Given the description of an element on the screen output the (x, y) to click on. 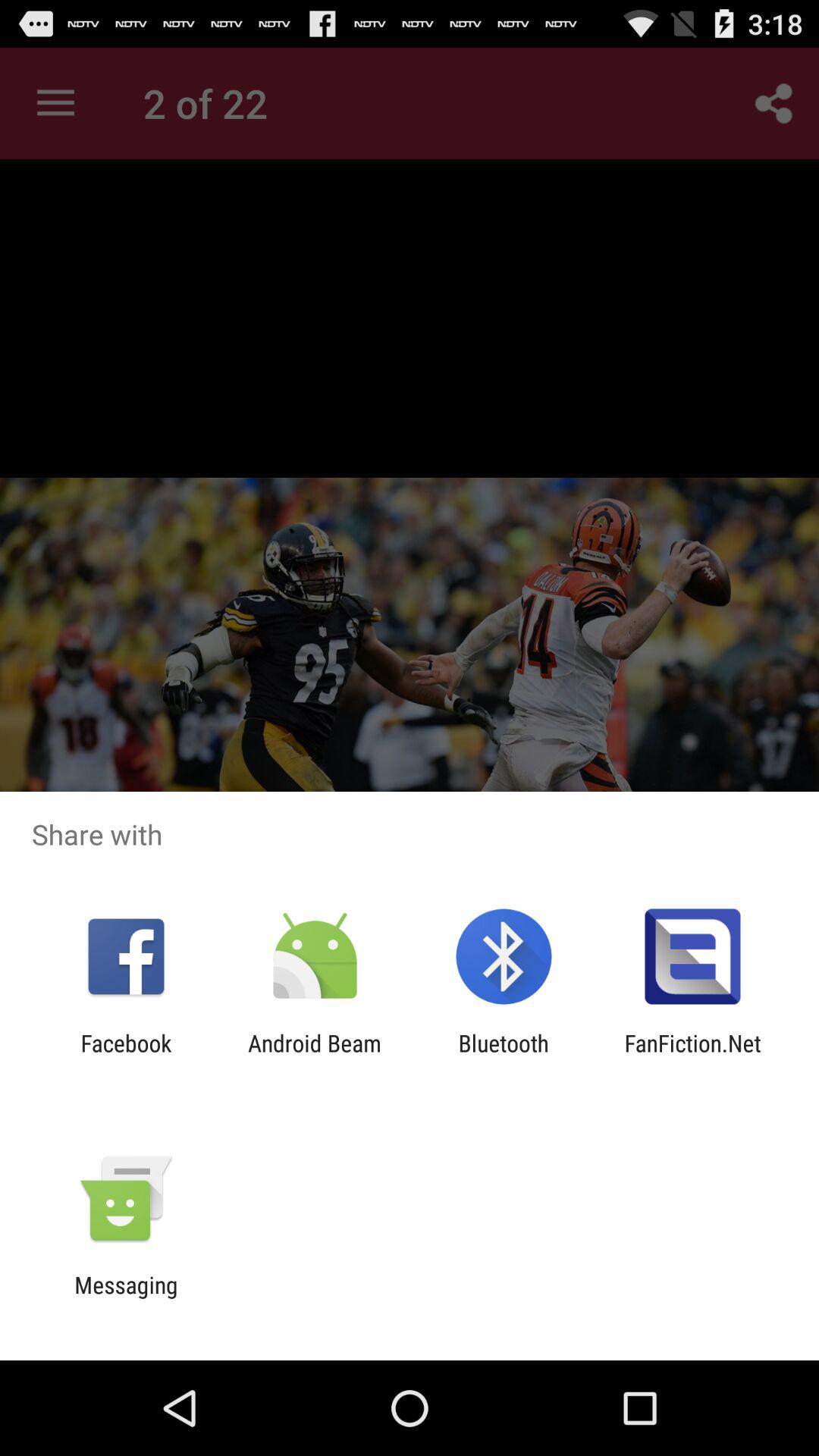
press the app next to bluetooth icon (692, 1056)
